Given the description of an element on the screen output the (x, y) to click on. 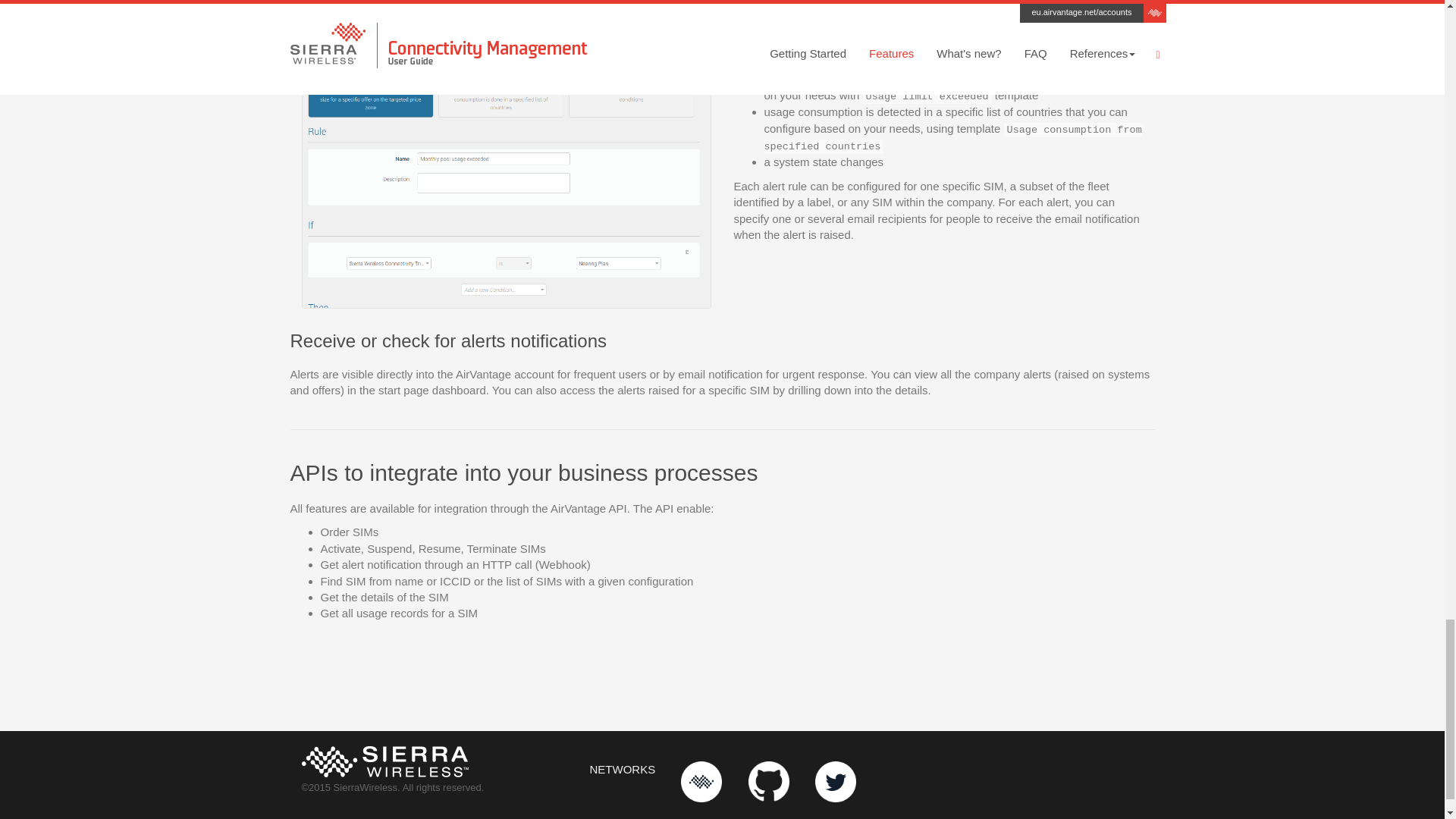
Sierra Wireless Web Site (701, 781)
AirVantage on Twitter (835, 781)
AirVantage Github Repository (768, 781)
